Given the description of an element on the screen output the (x, y) to click on. 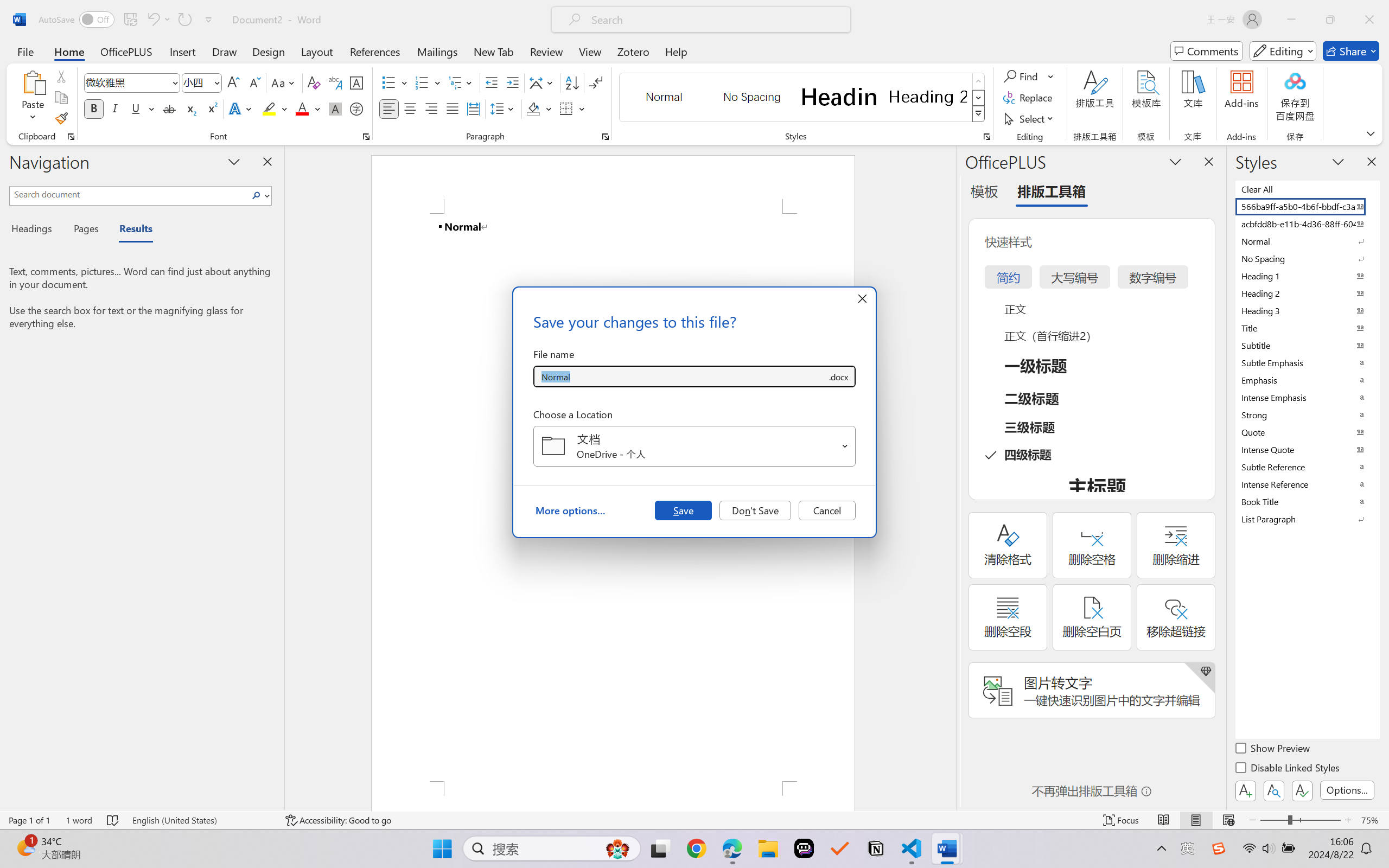
Page Number Page 1 of 1 (29, 819)
OfficePLUS (126, 51)
Numbering (421, 82)
Enclose Characters... (356, 108)
Bullets (388, 82)
Open (844, 446)
Search (259, 195)
Quick Access Toolbar (127, 19)
Home (69, 51)
